Given the description of an element on the screen output the (x, y) to click on. 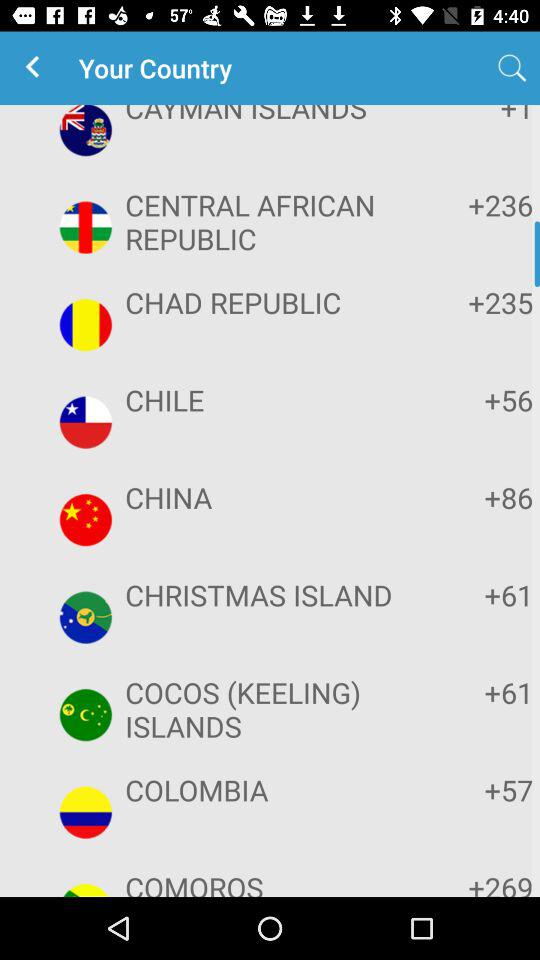
open the icon to the right of chad republic icon (471, 302)
